Given the description of an element on the screen output the (x, y) to click on. 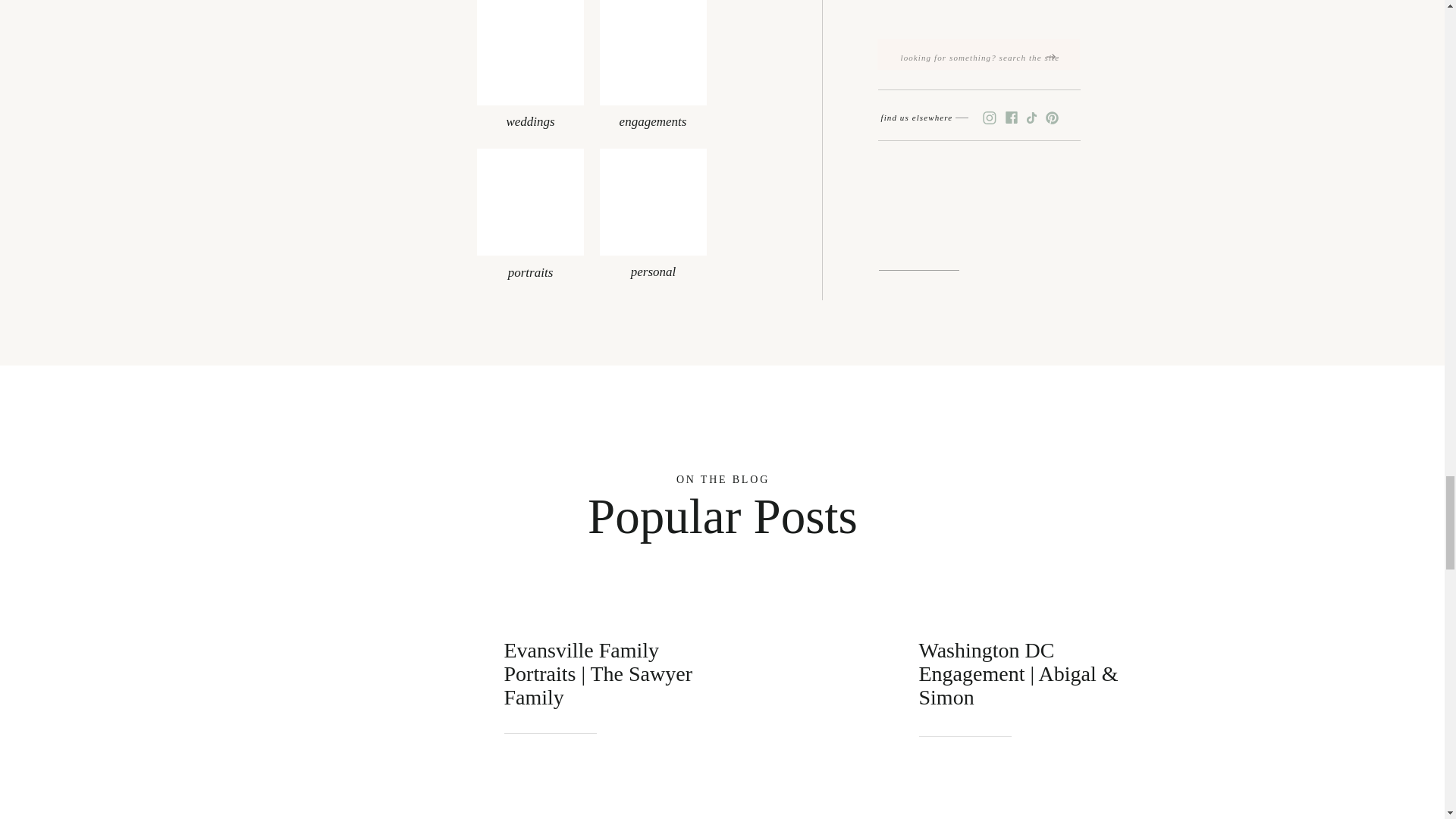
engagements (653, 115)
Facebook Copy-color Created with Sketch. (1010, 117)
personal (651, 265)
Instagram-color Created with Sketch. (988, 117)
weddings (529, 115)
portraits (529, 266)
